Given the description of an element on the screen output the (x, y) to click on. 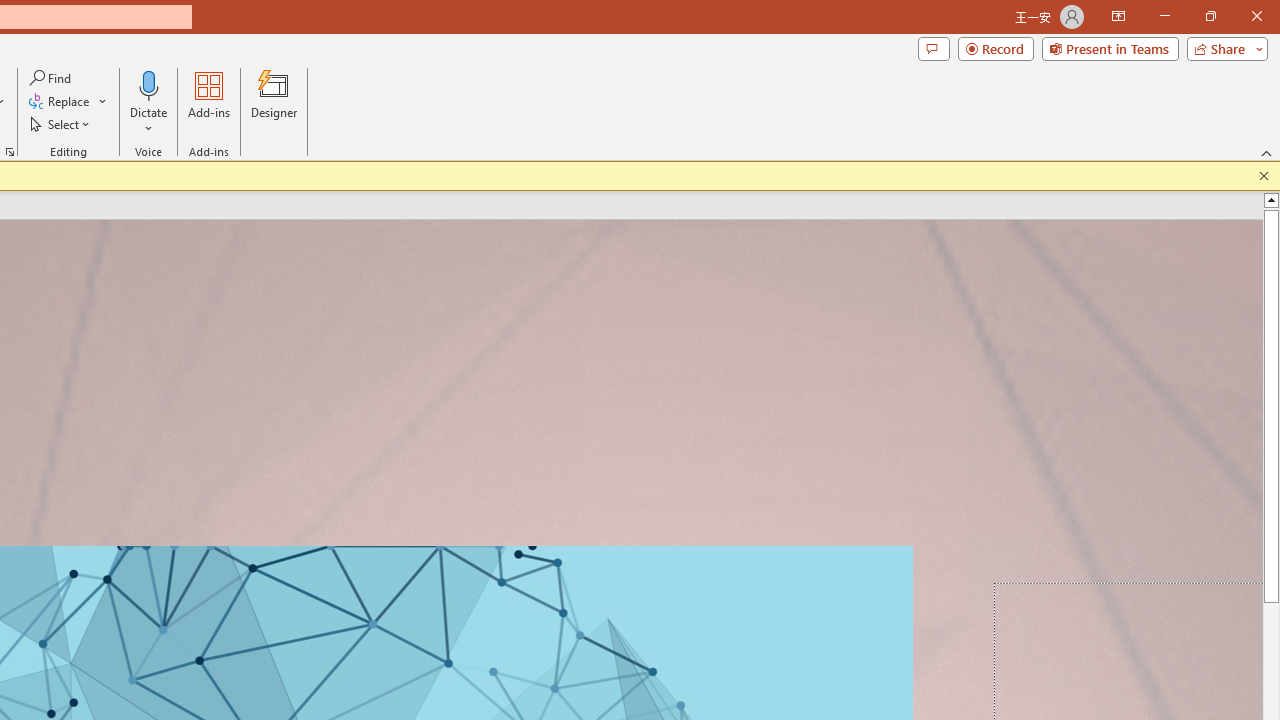
Close this message (1263, 176)
